Given the description of an element on the screen output the (x, y) to click on. 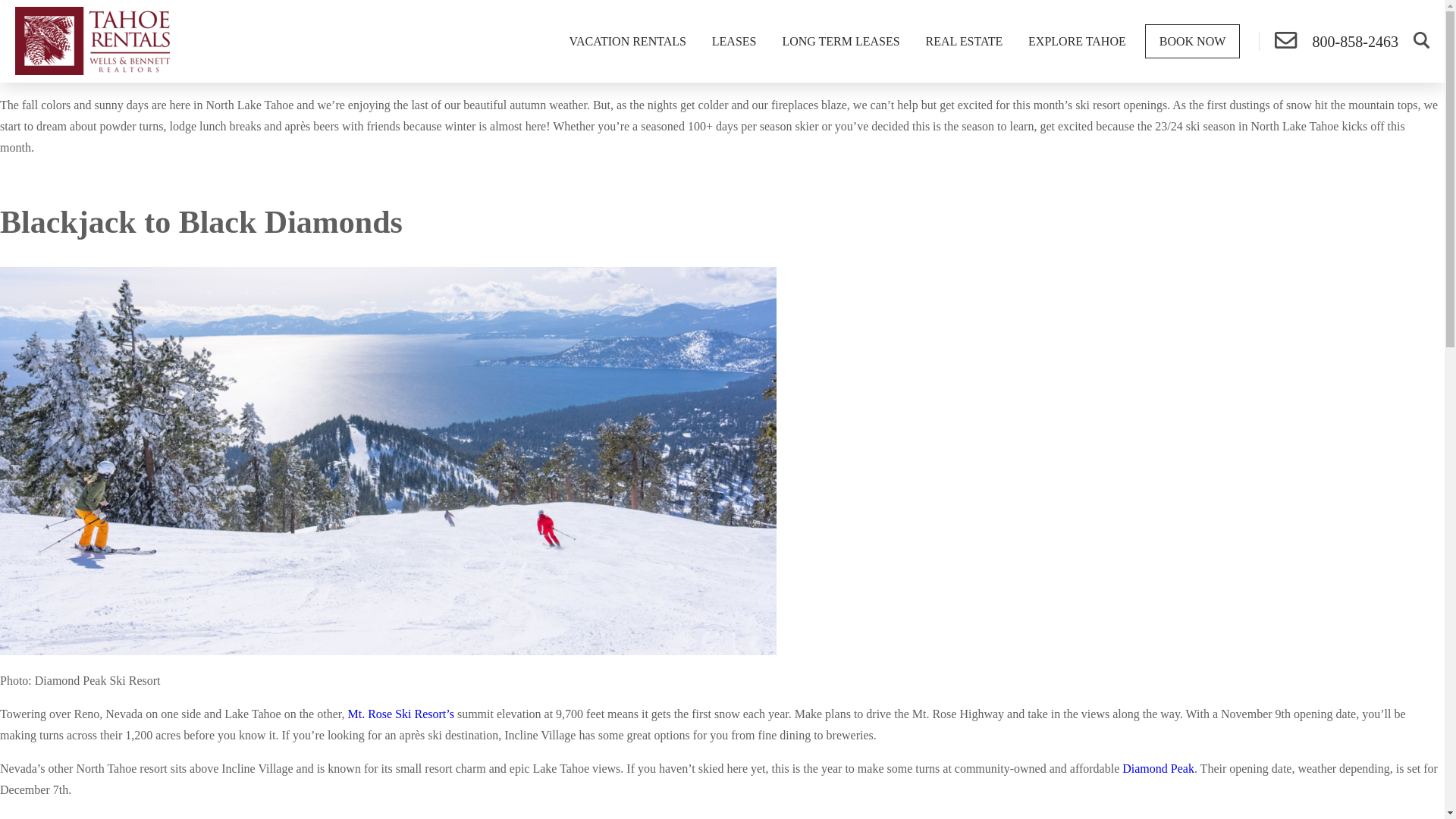
LONG TERM LEASES (840, 41)
LEASES (734, 41)
VACATION RENTALS (627, 41)
REAL ESTATE (964, 41)
